Given the description of an element on the screen output the (x, y) to click on. 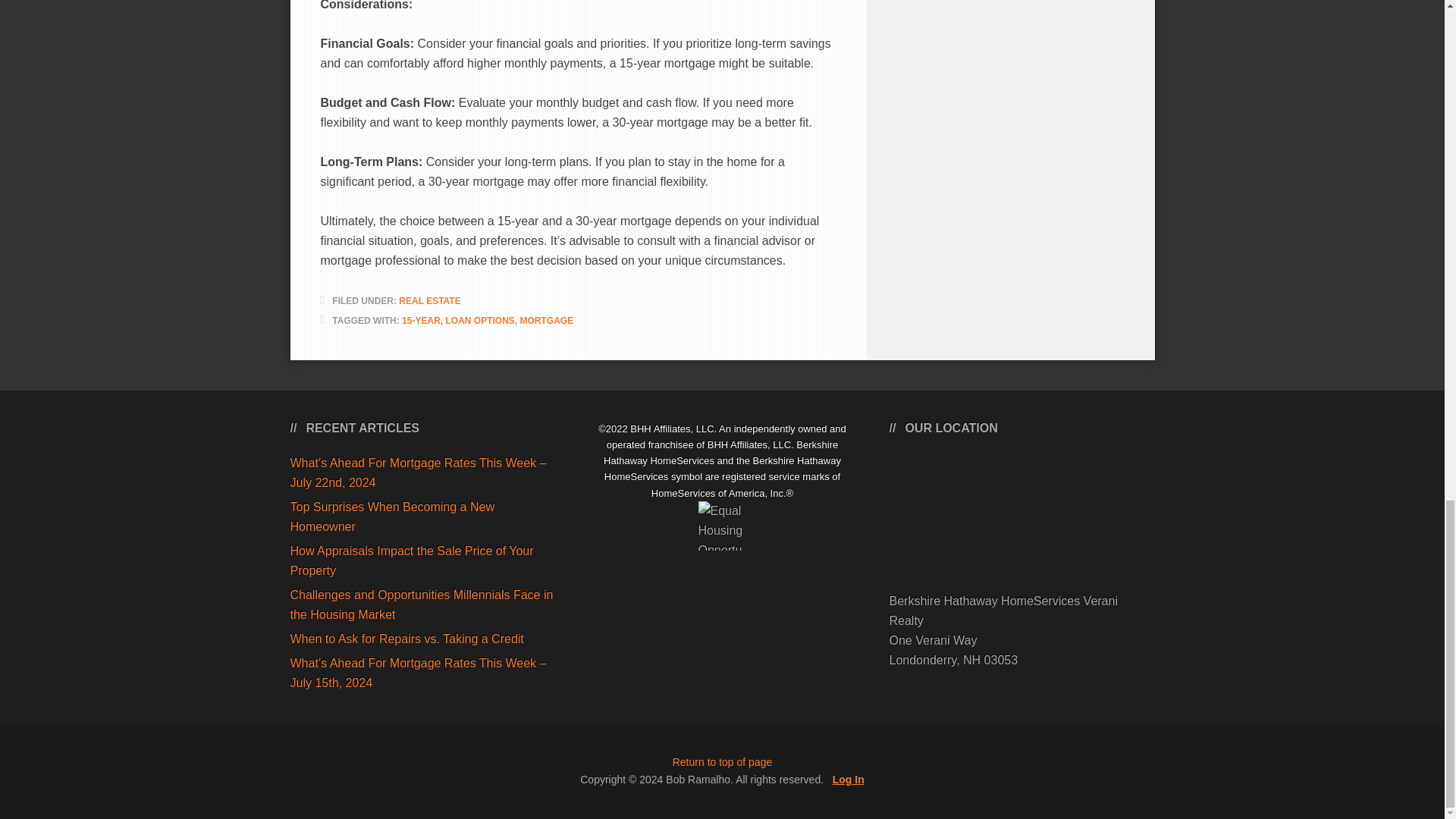
REAL ESTATE (429, 300)
How Appraisals Impact the Sale Price of Your Property (410, 560)
Log In (848, 779)
MORTGAGE (546, 320)
15-YEAR (421, 320)
Return to top of page (722, 761)
When to Ask for Repairs vs. Taking a Credit (405, 638)
LOAN OPTIONS (479, 320)
Top Surprises When Becoming a New Homeowner (391, 516)
